Given the description of an element on the screen output the (x, y) to click on. 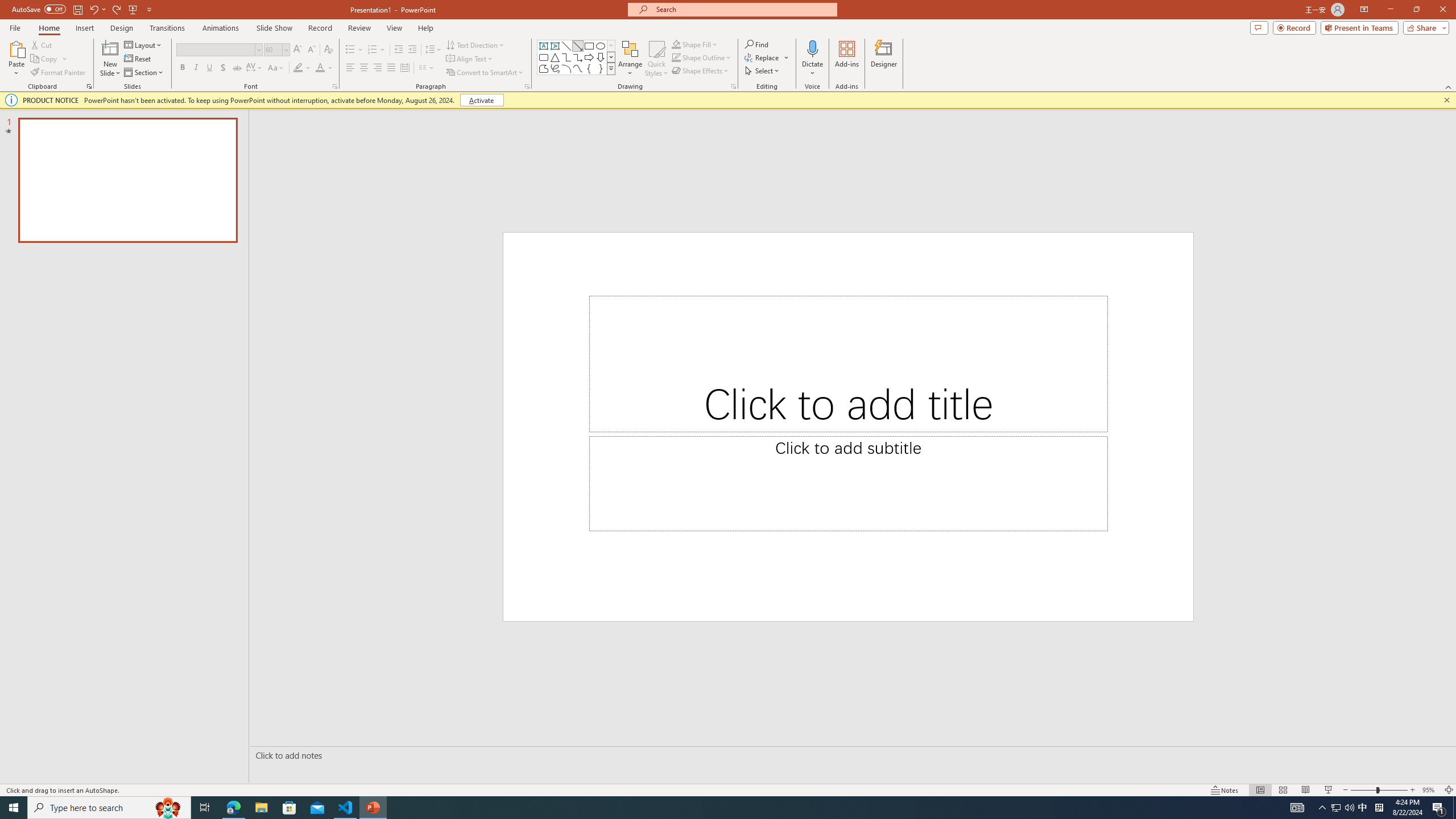
Zoom 95% (1430, 790)
